Given the description of an element on the screen output the (x, y) to click on. 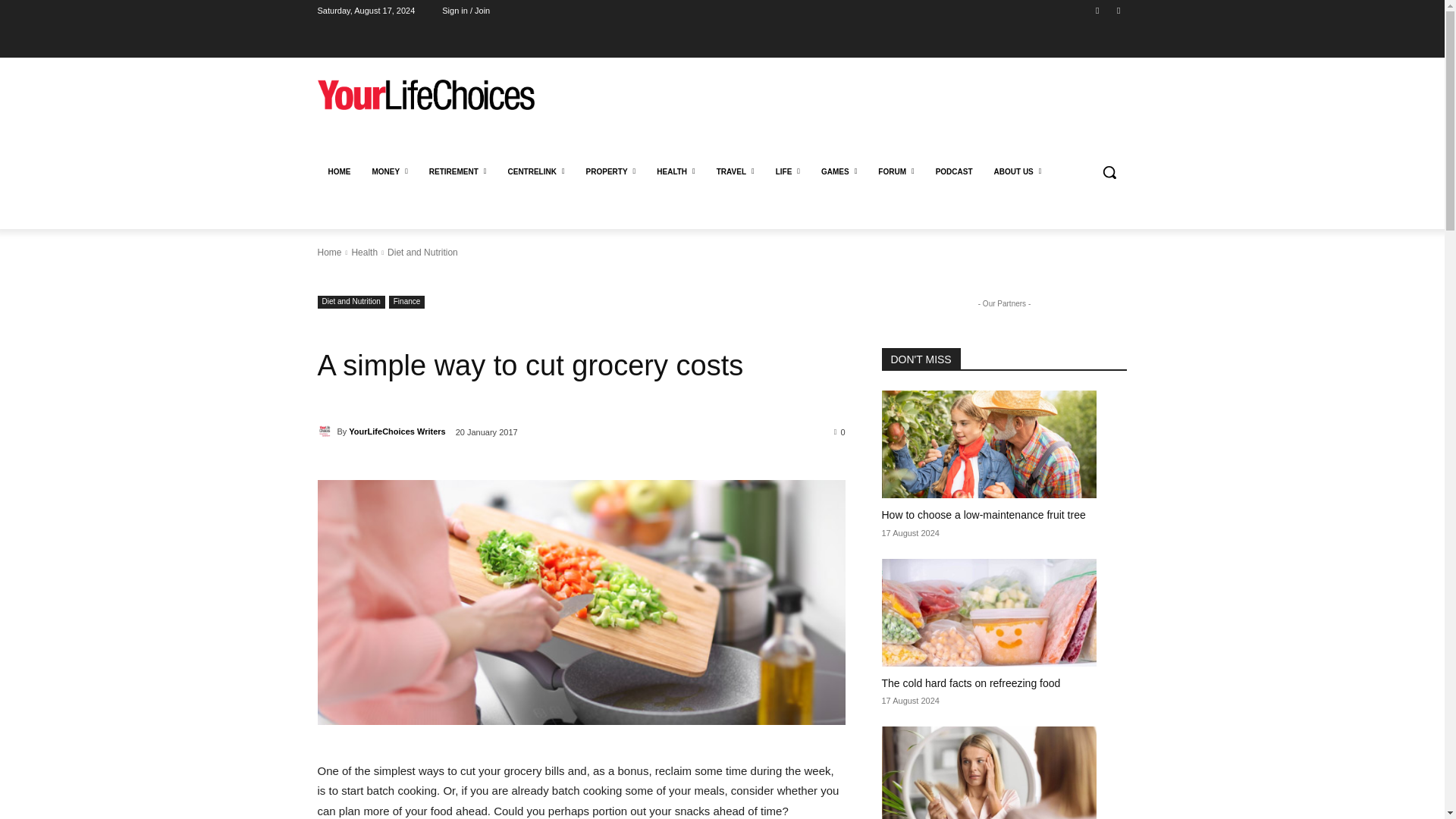
Facebook (1097, 9)
View all posts in Health (363, 252)
Twitter (1117, 9)
A simple way to cut grocery costs (580, 602)
YourLifeChoices Writers (326, 431)
View all posts in Diet and Nutrition (422, 252)
